Given the description of an element on the screen output the (x, y) to click on. 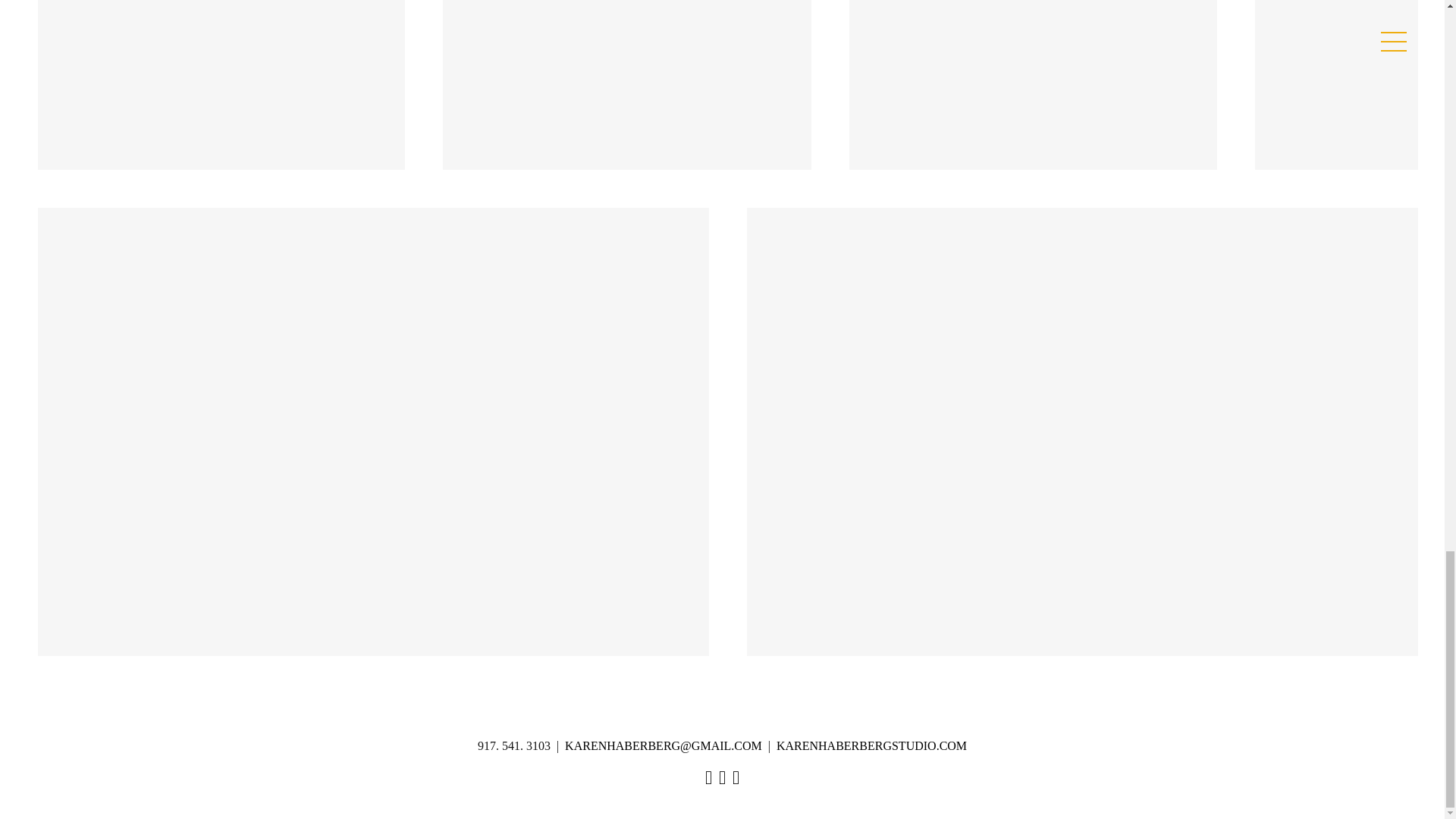
KARENHABERBERGSTUDIO.COM (871, 745)
